Given the description of an element on the screen output the (x, y) to click on. 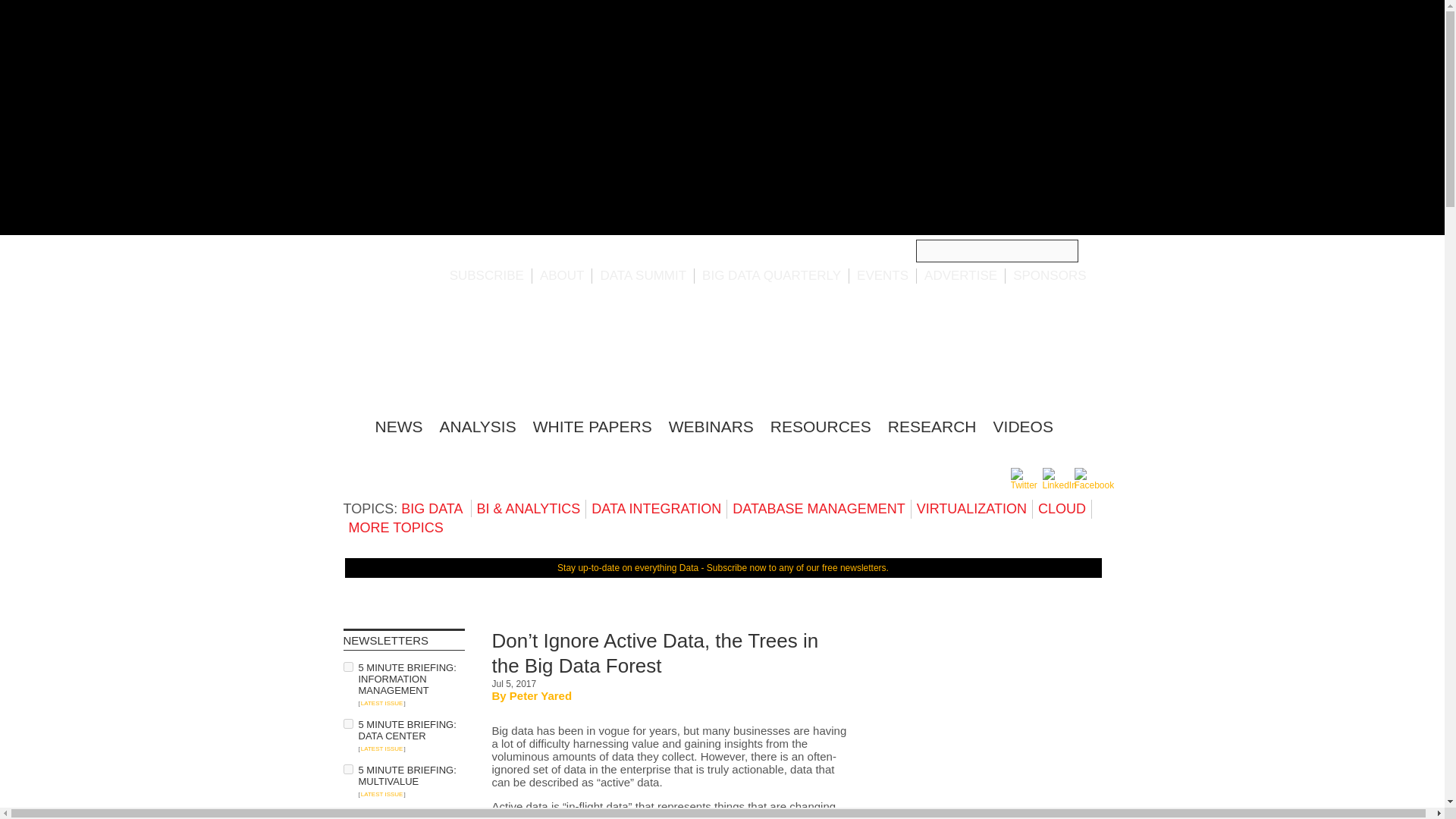
VIDEOS (1022, 425)
WEBINARS (711, 425)
SUBSCRIBE (486, 275)
SPONSORS (1049, 275)
DBTA (434, 352)
EVENTS (882, 275)
Database Trends and Applications Home (350, 424)
on (347, 723)
DBTA on Facebook (1093, 484)
ANALYSIS (477, 425)
NEWS (398, 425)
BIG DATA QUARTERLY (771, 275)
RESOURCES (820, 425)
ABOUT (562, 275)
WHITE PAPERS (592, 425)
